Given the description of an element on the screen output the (x, y) to click on. 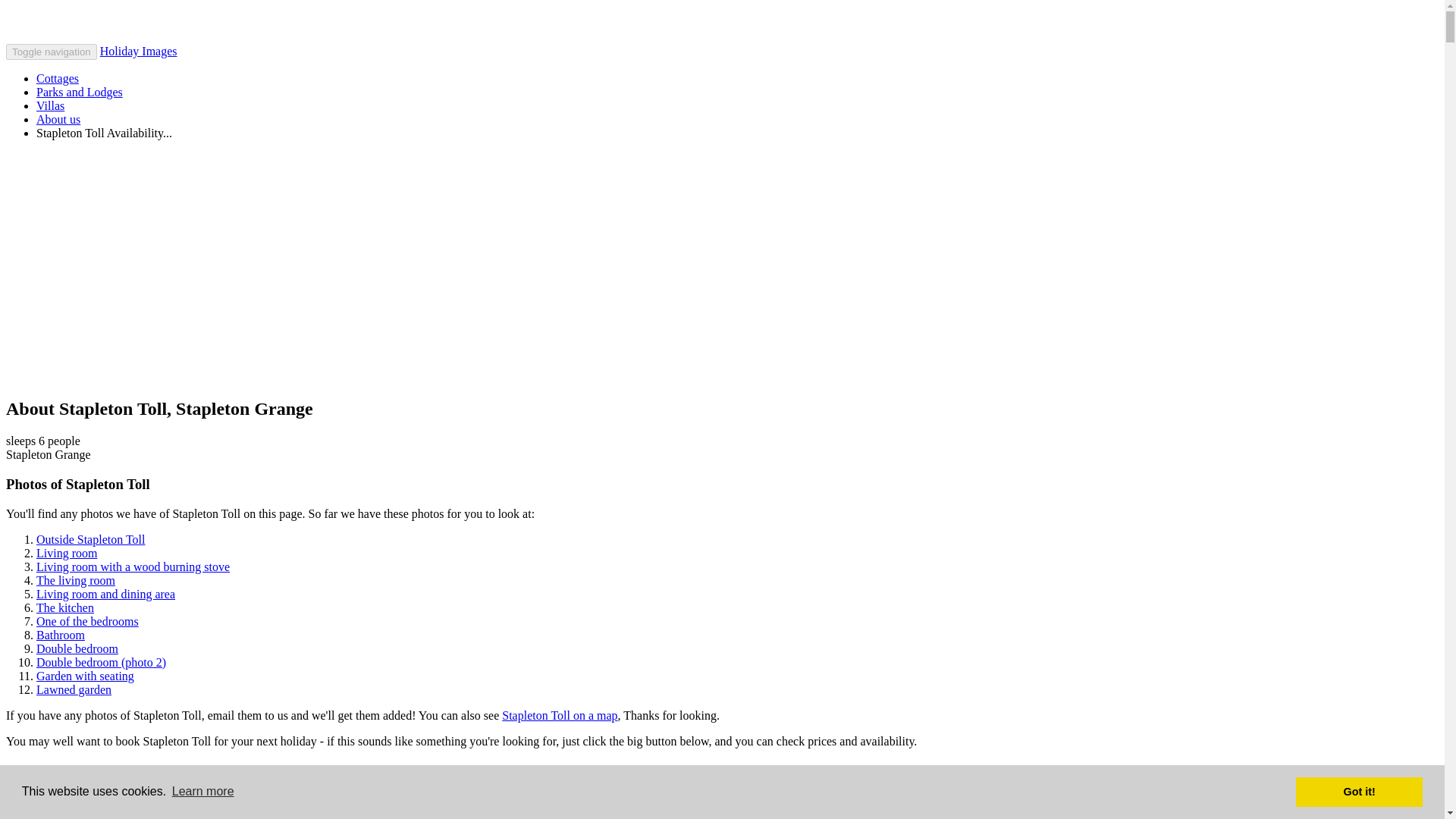
Garden with seating (84, 675)
Holiday Images (138, 51)
One of the bedrooms (87, 621)
Toggle navigation (51, 51)
Living room and dining area (105, 594)
Double bedroom (76, 648)
The living room (75, 580)
Got it! (1358, 791)
Stapleton Toll Availability... (103, 132)
About us (58, 119)
Living room (66, 553)
Learn more (202, 791)
Find out more about Stapleton Toll in Stapleton Grange... (145, 792)
Bathroom (60, 634)
Villas (50, 105)
